Given the description of an element on the screen output the (x, y) to click on. 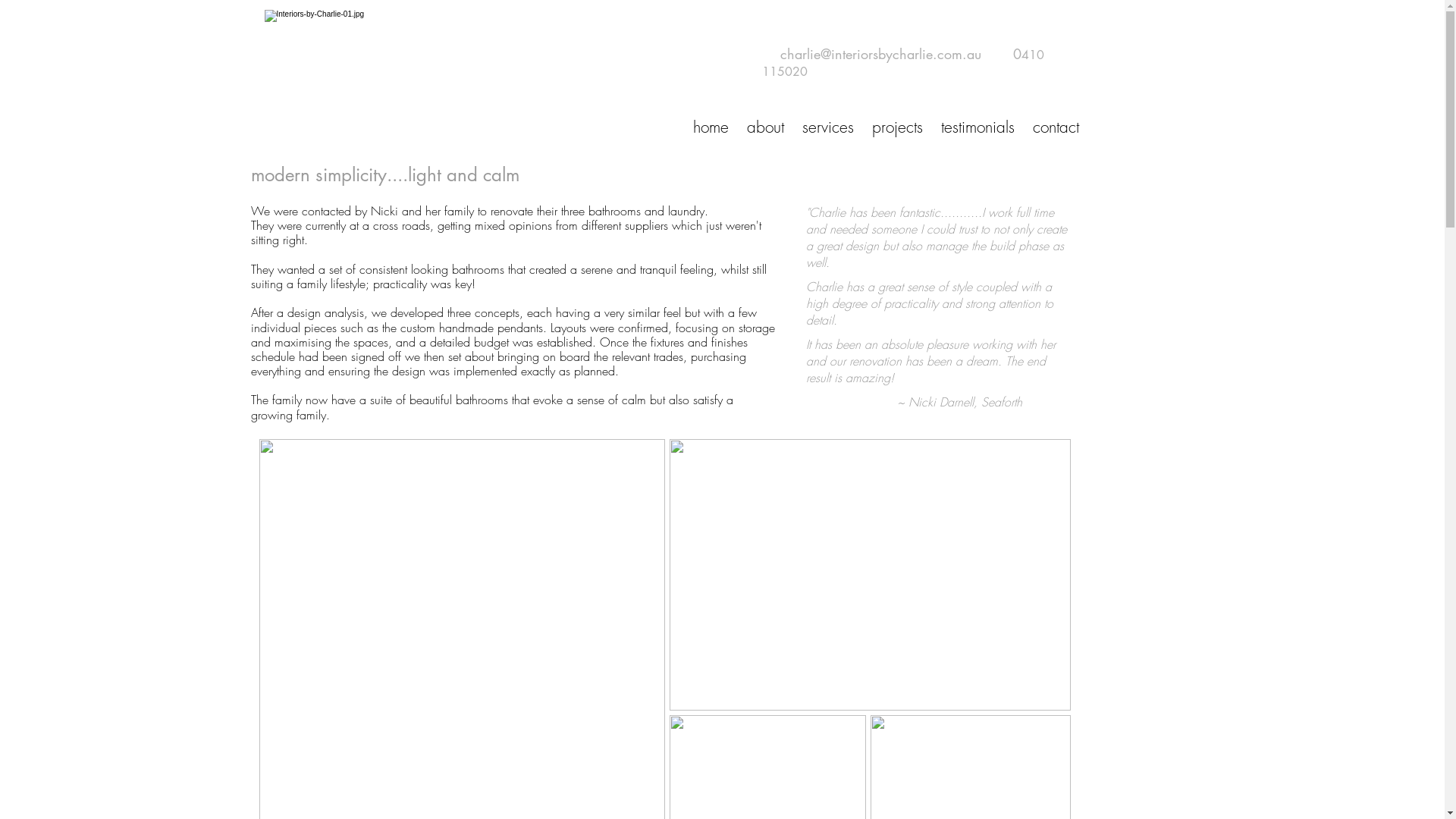
contact Element type: text (1055, 126)
testimonials Element type: text (976, 126)
home Element type: text (710, 126)
services Element type: text (827, 126)
charlie@interiorsbycharlie.com.au Element type: text (879, 53)
about Element type: text (764, 126)
projects Element type: text (896, 126)
